Given the description of an element on the screen output the (x, y) to click on. 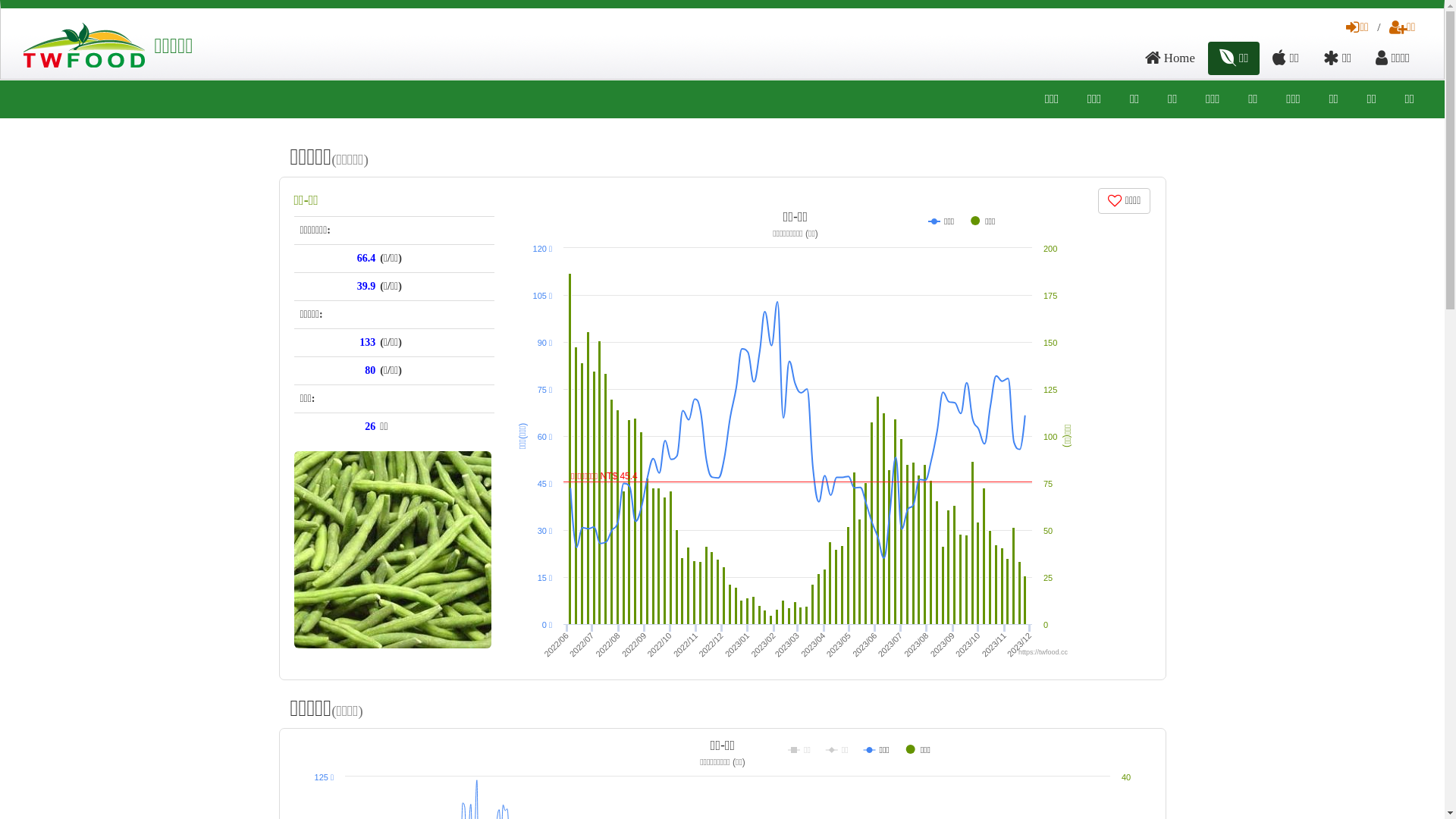
Home Element type: text (1169, 58)
